Given the description of an element on the screen output the (x, y) to click on. 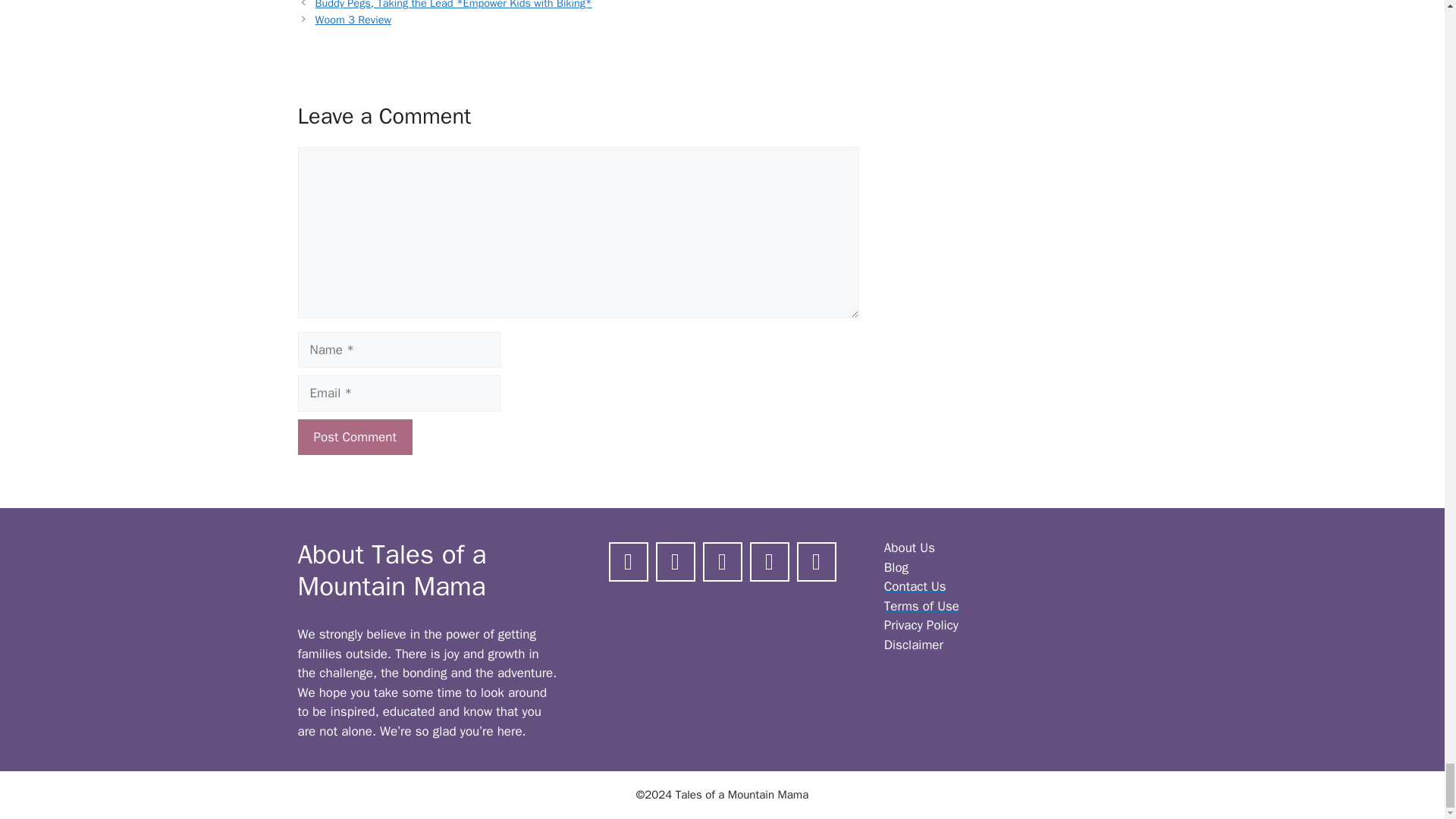
Instagram (675, 559)
Facebook (628, 559)
Pinterest (721, 559)
Post Comment (354, 437)
